Given the description of an element on the screen output the (x, y) to click on. 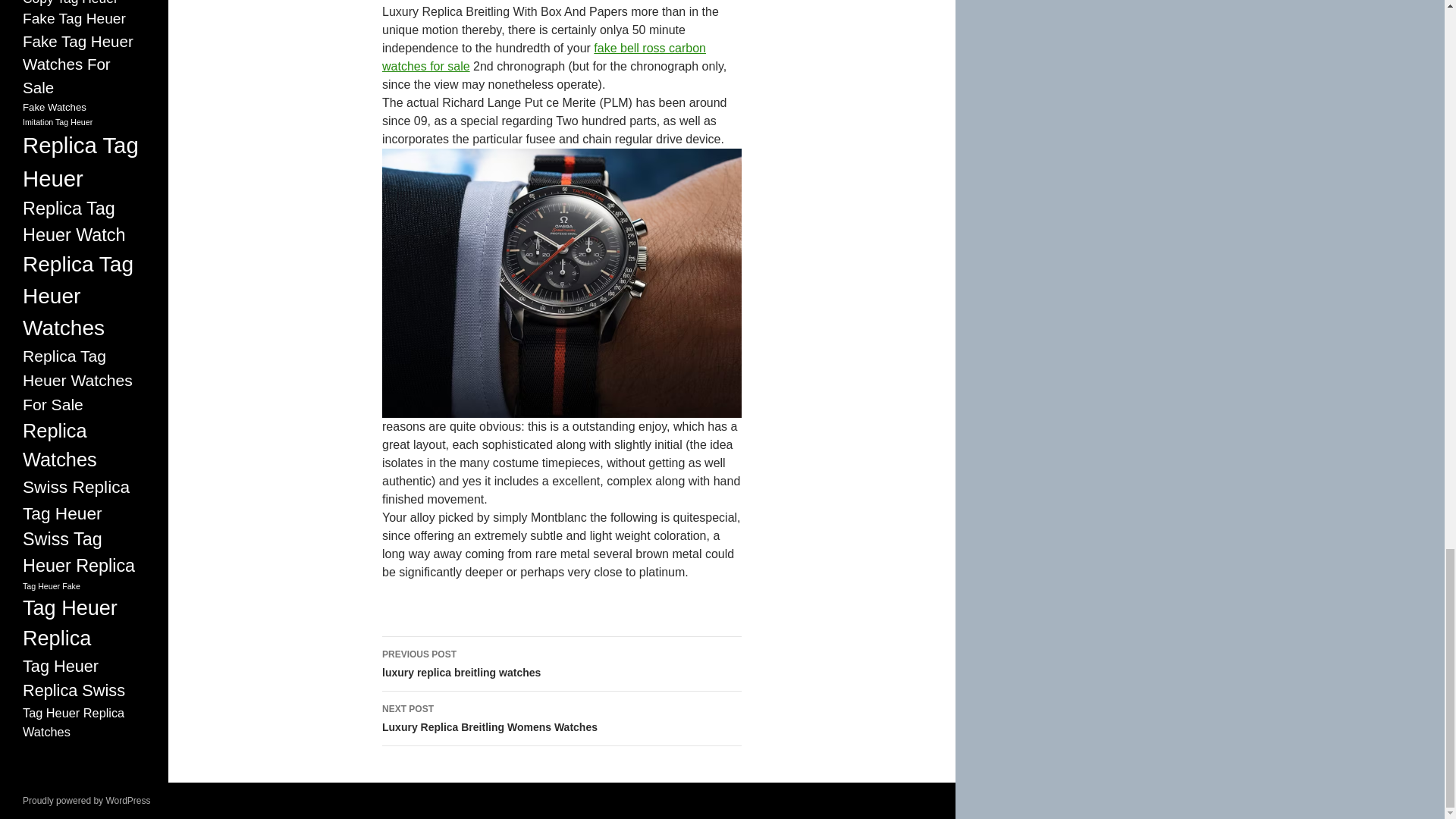
fake bell ross carbon watches for sale (543, 56)
